Given the description of an element on the screen output the (x, y) to click on. 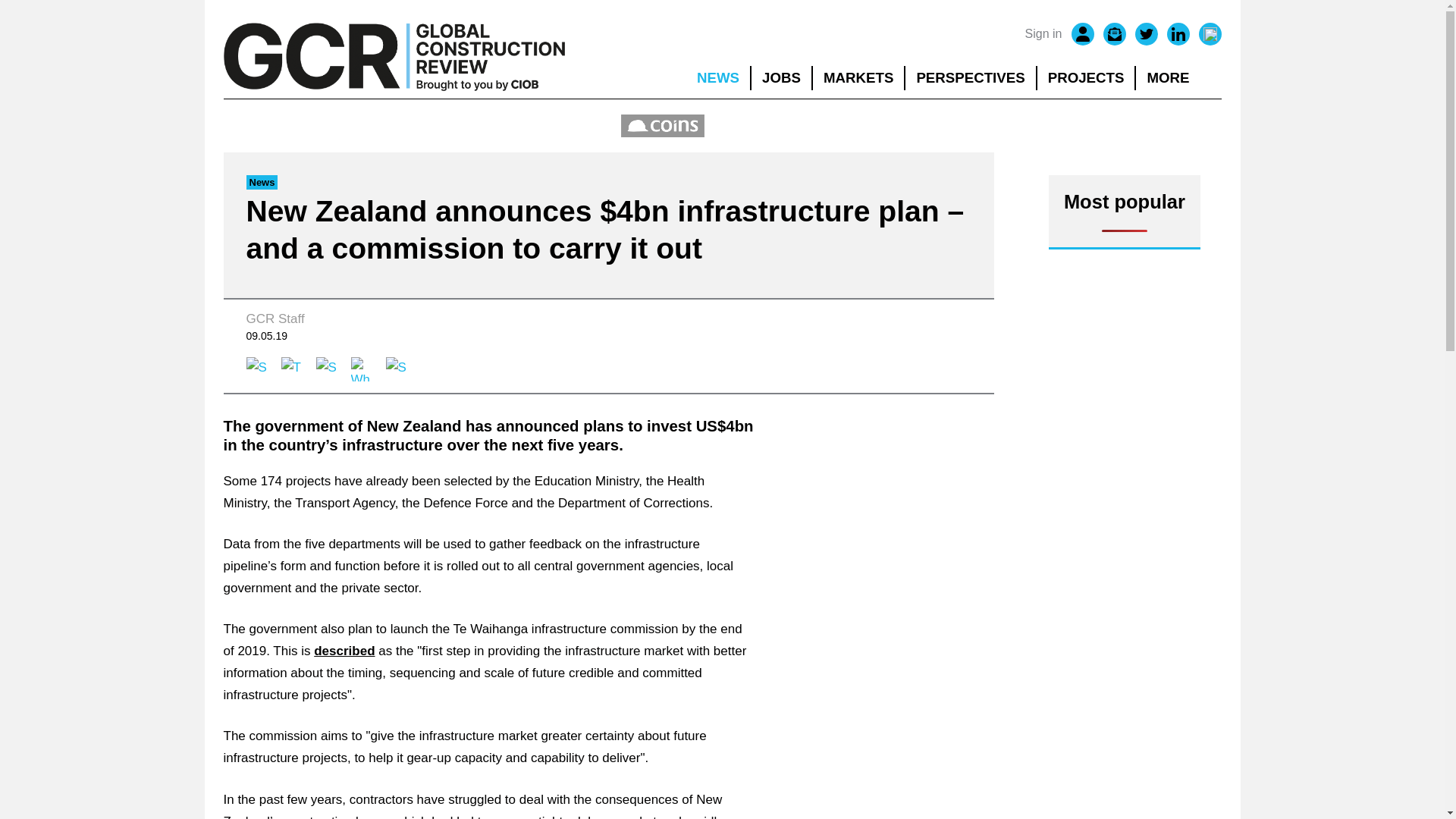
Tweet (292, 369)
PROJECTS (1085, 78)
Share on Facebook (257, 369)
MORE (1178, 78)
PERSPECTIVES (970, 78)
MARKETS (858, 78)
Sign in (1043, 34)
JOBS (780, 78)
Share on LinkedIn (327, 369)
Share on WhatsApp (362, 369)
Send email (397, 369)
NEWS (717, 78)
